Given the description of an element on the screen output the (x, y) to click on. 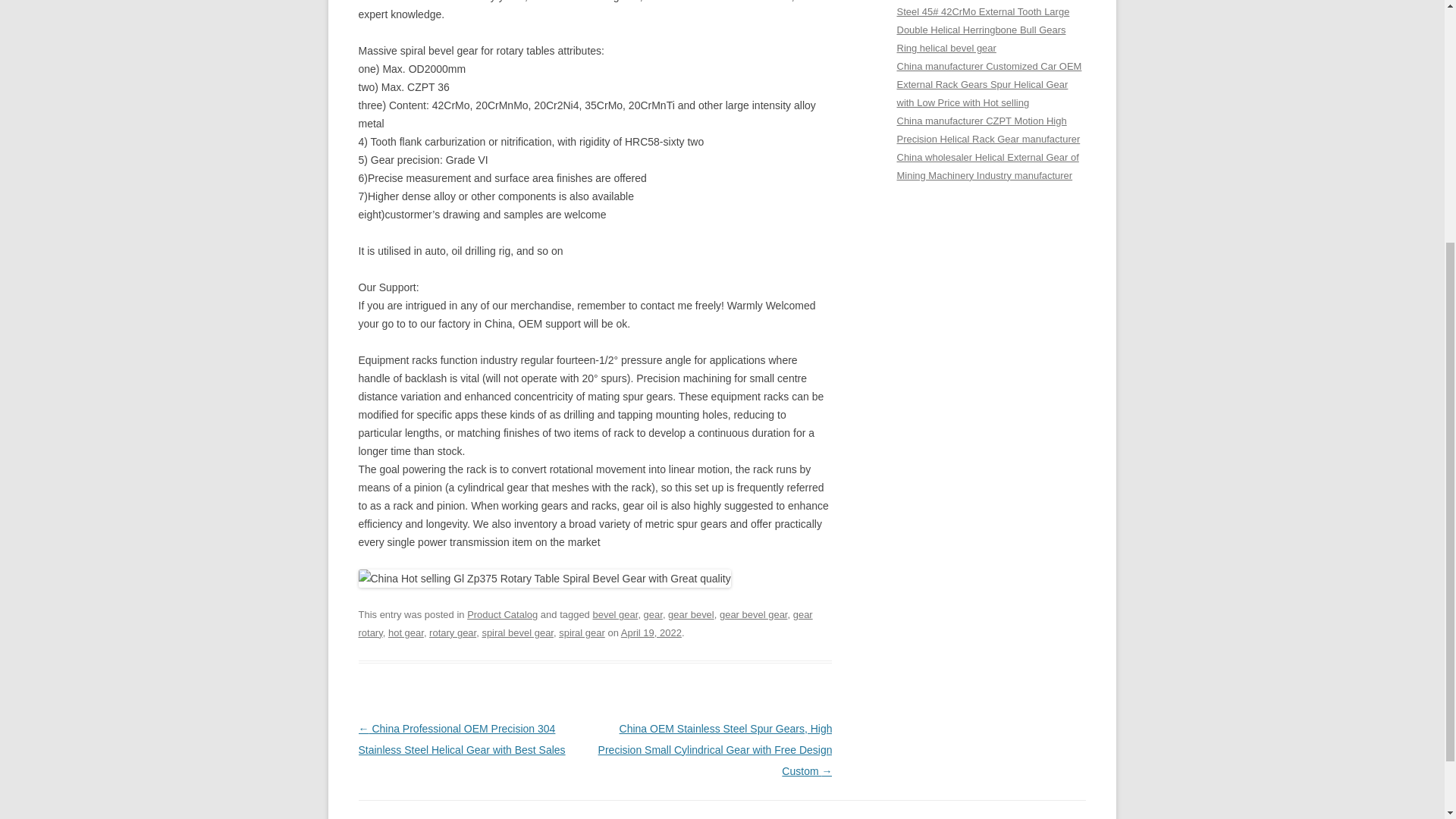
spiral bevel gear (517, 632)
3:52 pm (651, 632)
rotary gear (452, 632)
gear bevel (691, 614)
gear (652, 614)
gear bevel gear (753, 614)
gear rotary (585, 623)
spiral gear (582, 632)
April 19, 2022 (651, 632)
Product Catalog (502, 614)
hot gear (405, 632)
bevel gear (614, 614)
